Given the description of an element on the screen output the (x, y) to click on. 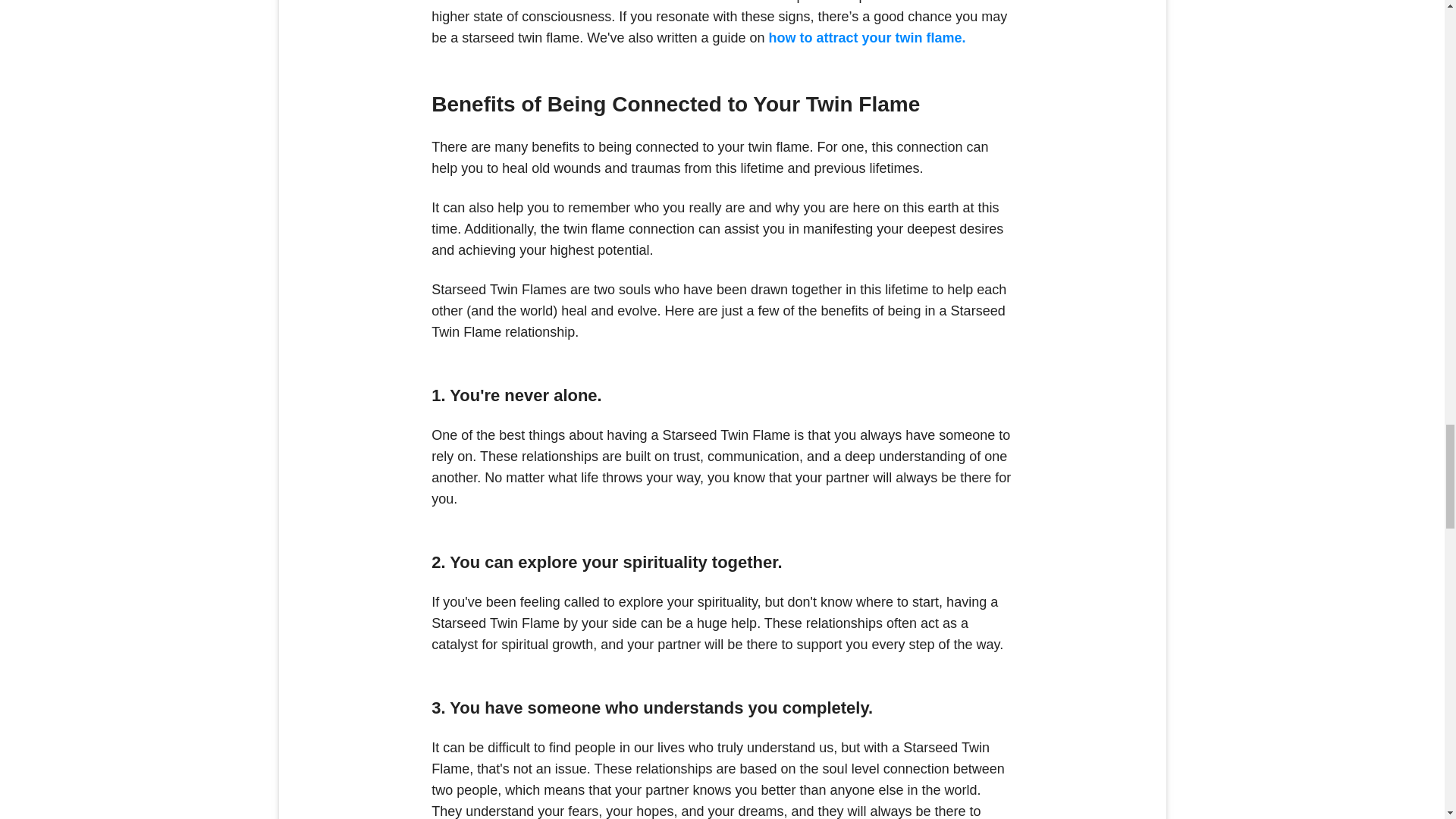
how to attract your twin flame. (867, 37)
